Given the description of an element on the screen output the (x, y) to click on. 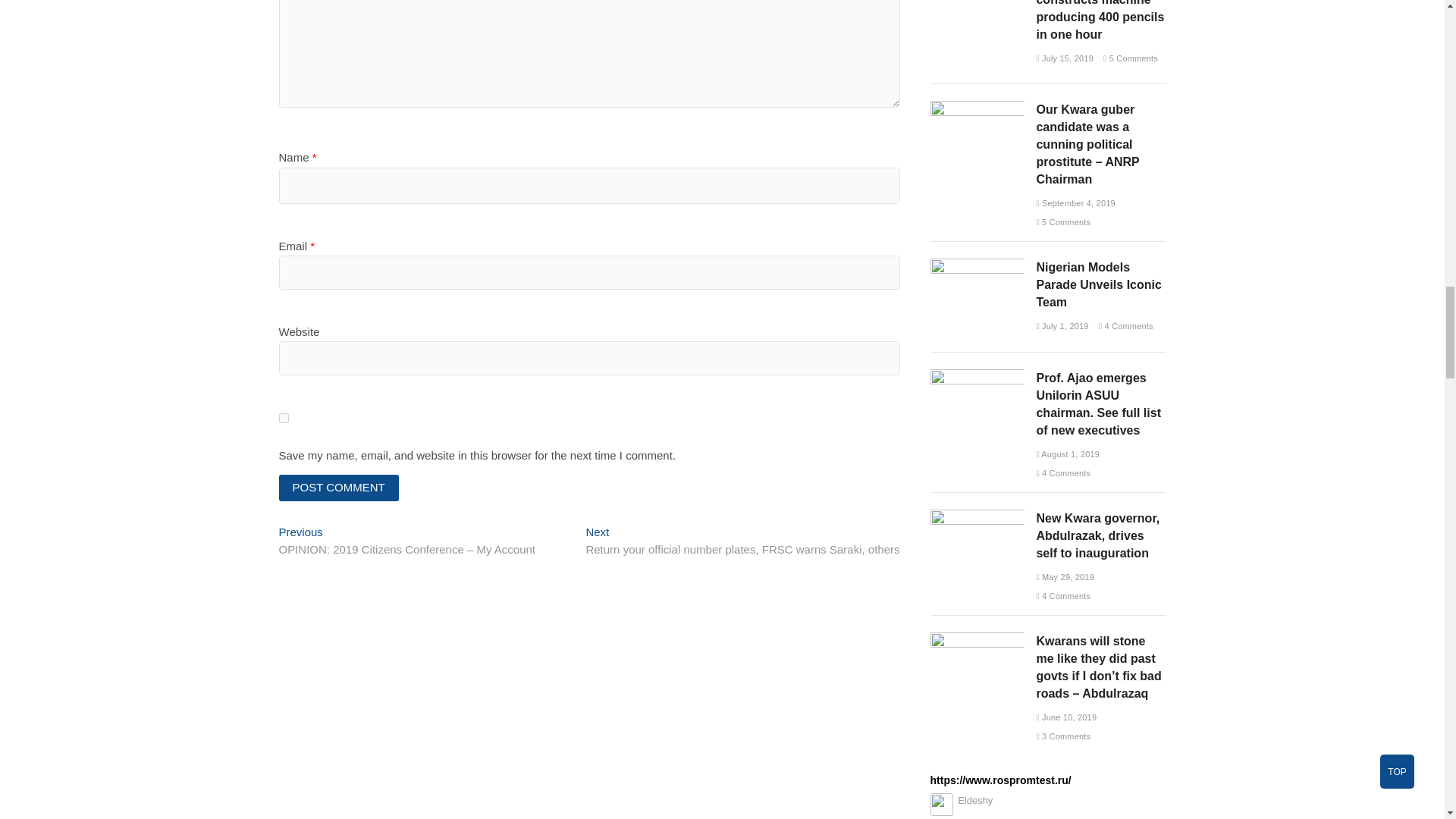
Post Comment (338, 488)
yes (283, 418)
Post Comment (338, 488)
